Given the description of an element on the screen output the (x, y) to click on. 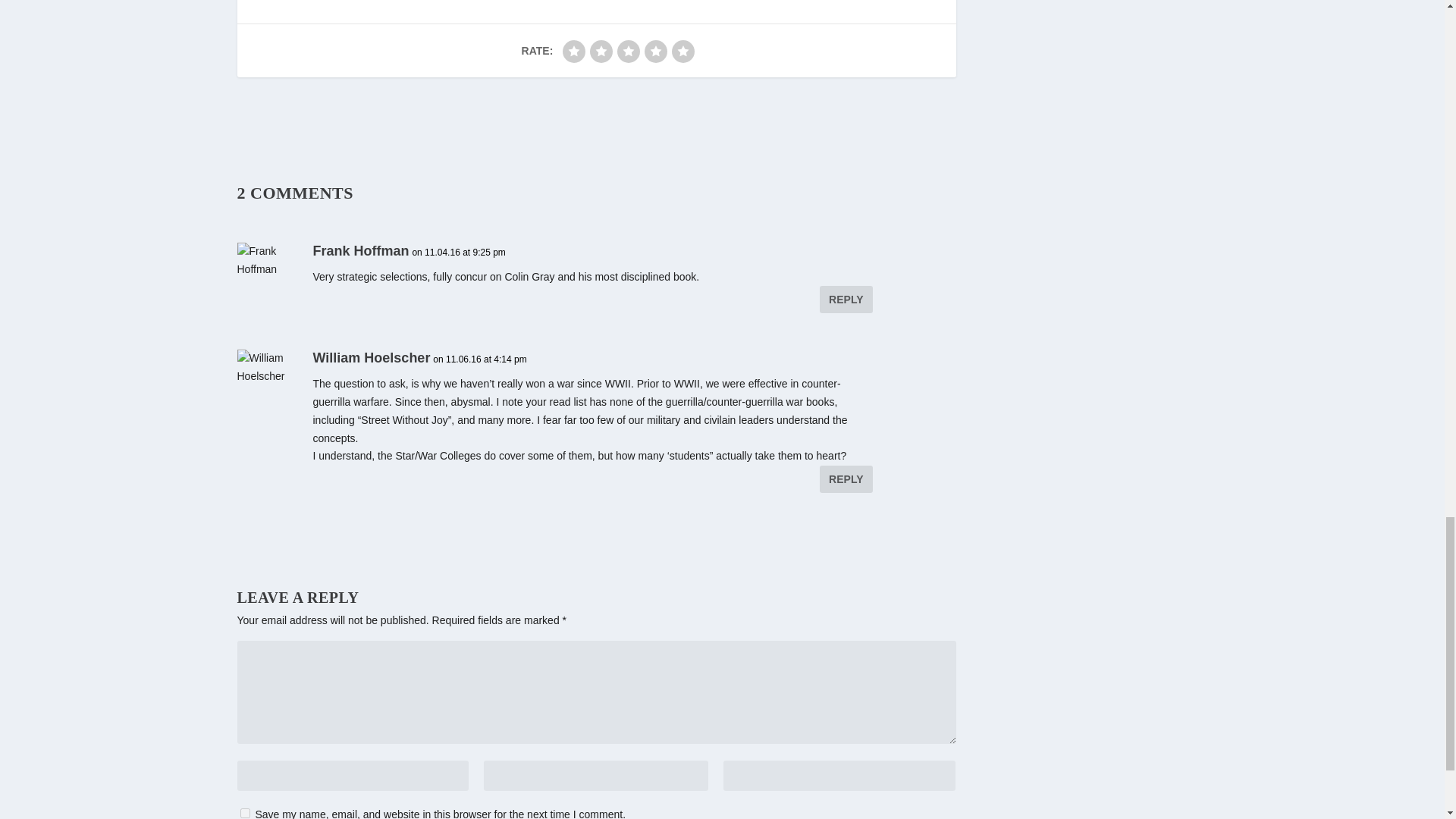
regular (628, 51)
poor (600, 51)
yes (244, 813)
bad (573, 51)
